Given the description of an element on the screen output the (x, y) to click on. 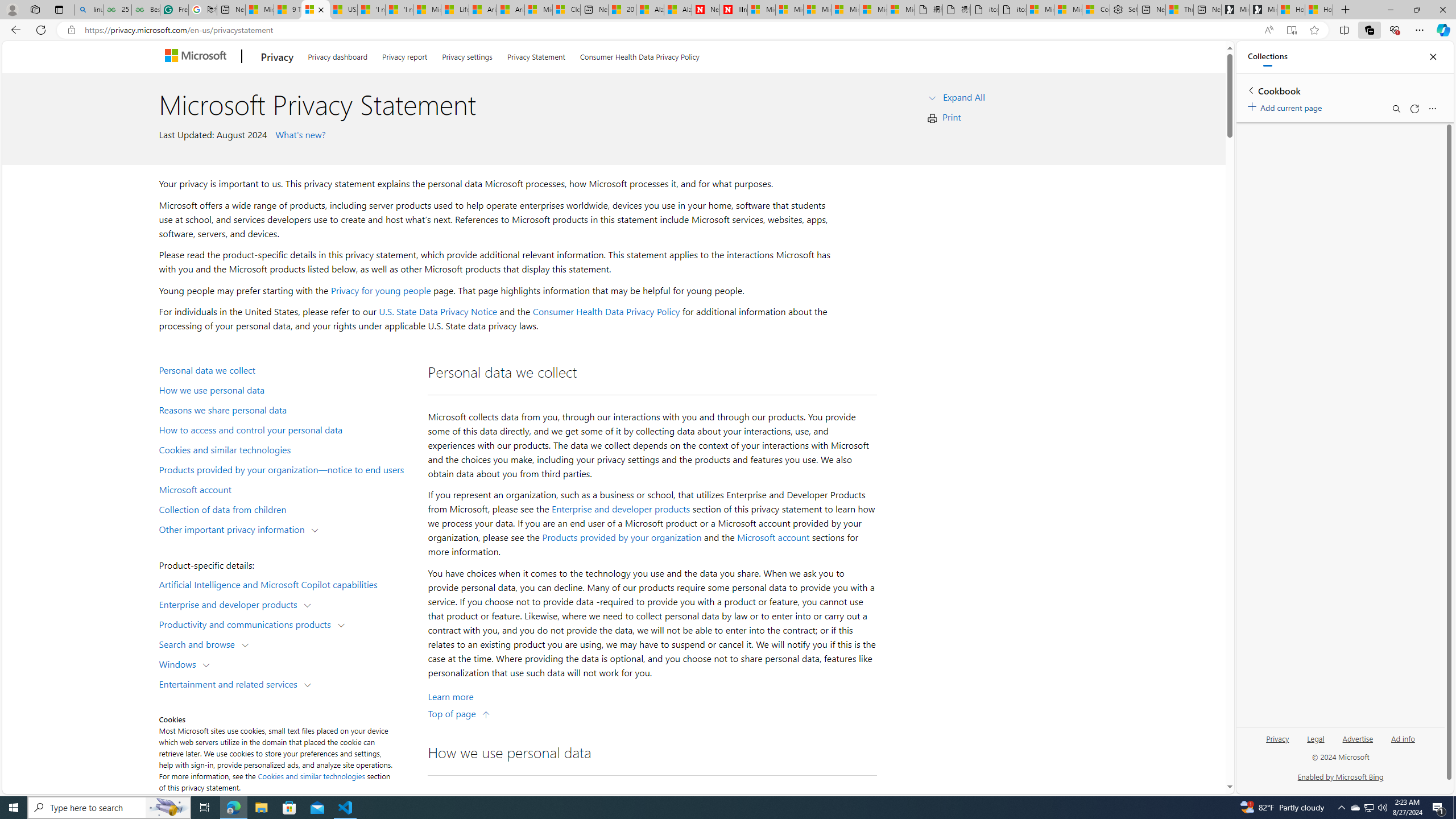
Artificial Intelligence and Microsoft Copilot capabilities (287, 583)
Productivity and communications products (247, 623)
itconcepthk.com/projector_solutions.mp4 (1011, 9)
Privacy settings (466, 54)
U.S. State Data Privacy Notice (437, 311)
20 Ways to Boost Your Protein Intake at Every Meal (621, 9)
Reasons we share personal data (287, 409)
Consumer Health Data Privacy Policy (605, 311)
